Given the description of an element on the screen output the (x, y) to click on. 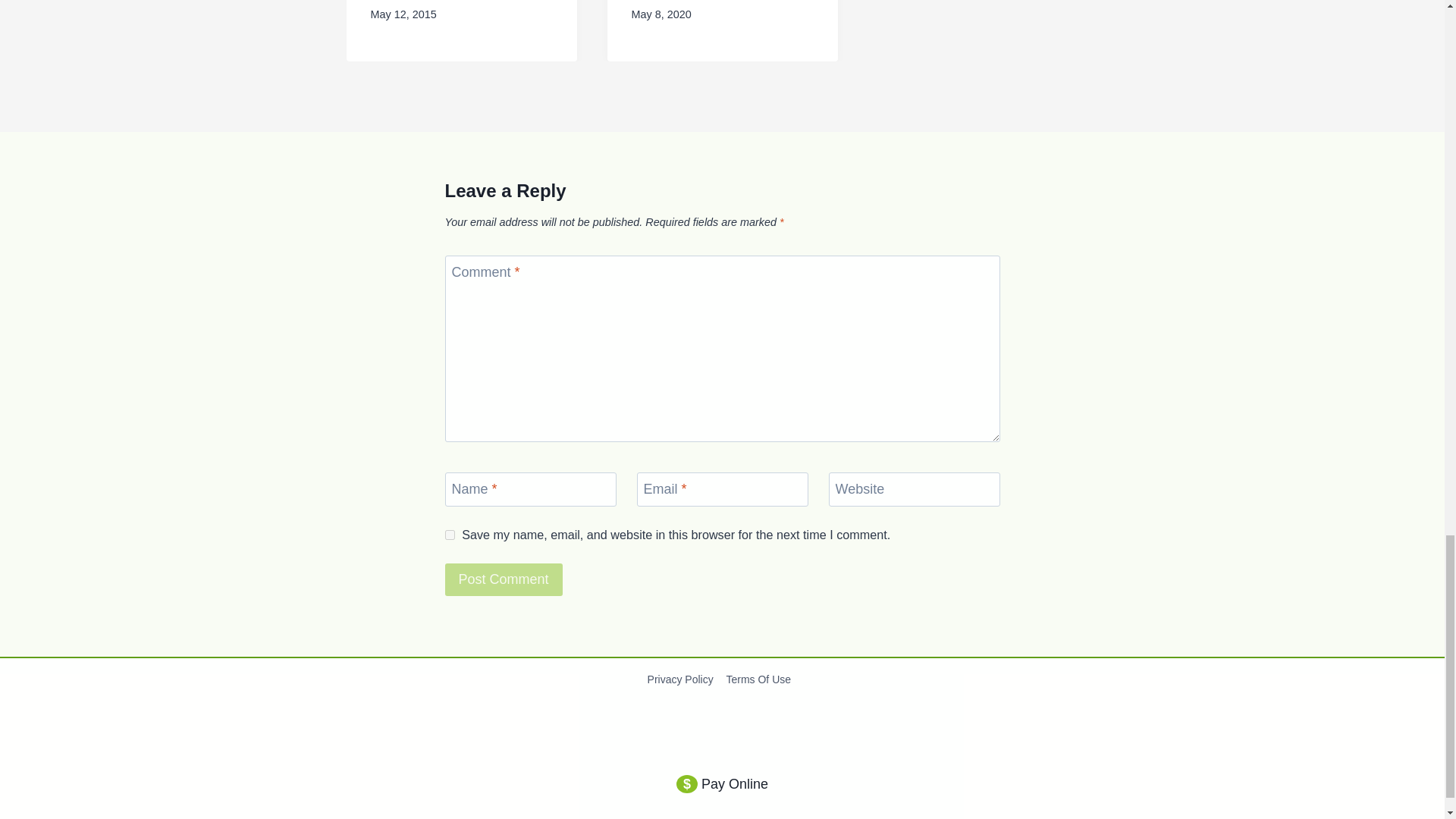
yes (449, 534)
Post Comment (503, 579)
